Given the description of an element on the screen output the (x, y) to click on. 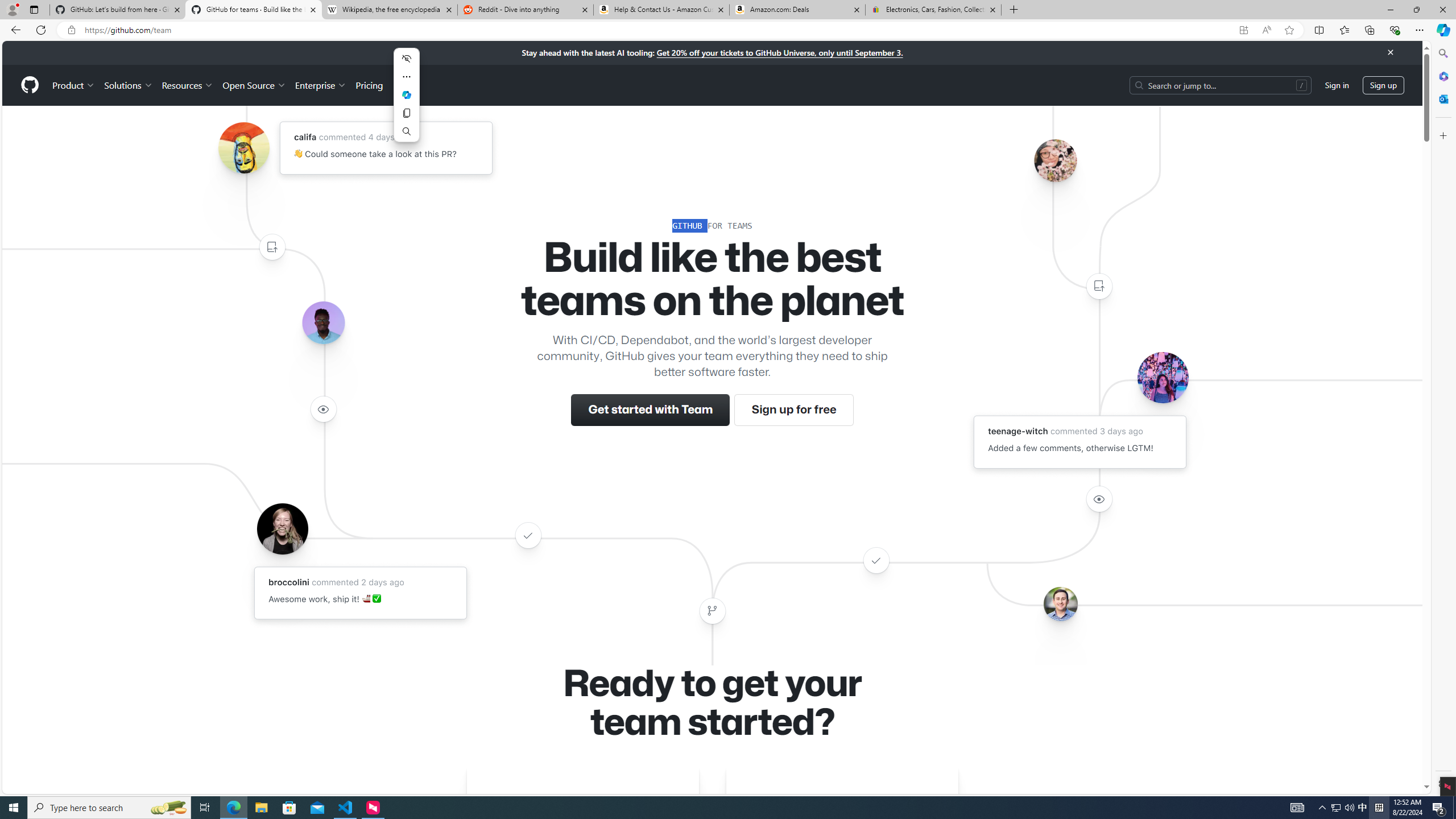
Product (74, 84)
Enterprise (319, 84)
Avatar of the user benbalter (1059, 604)
Address and search bar (658, 29)
